Given the description of an element on the screen output the (x, y) to click on. 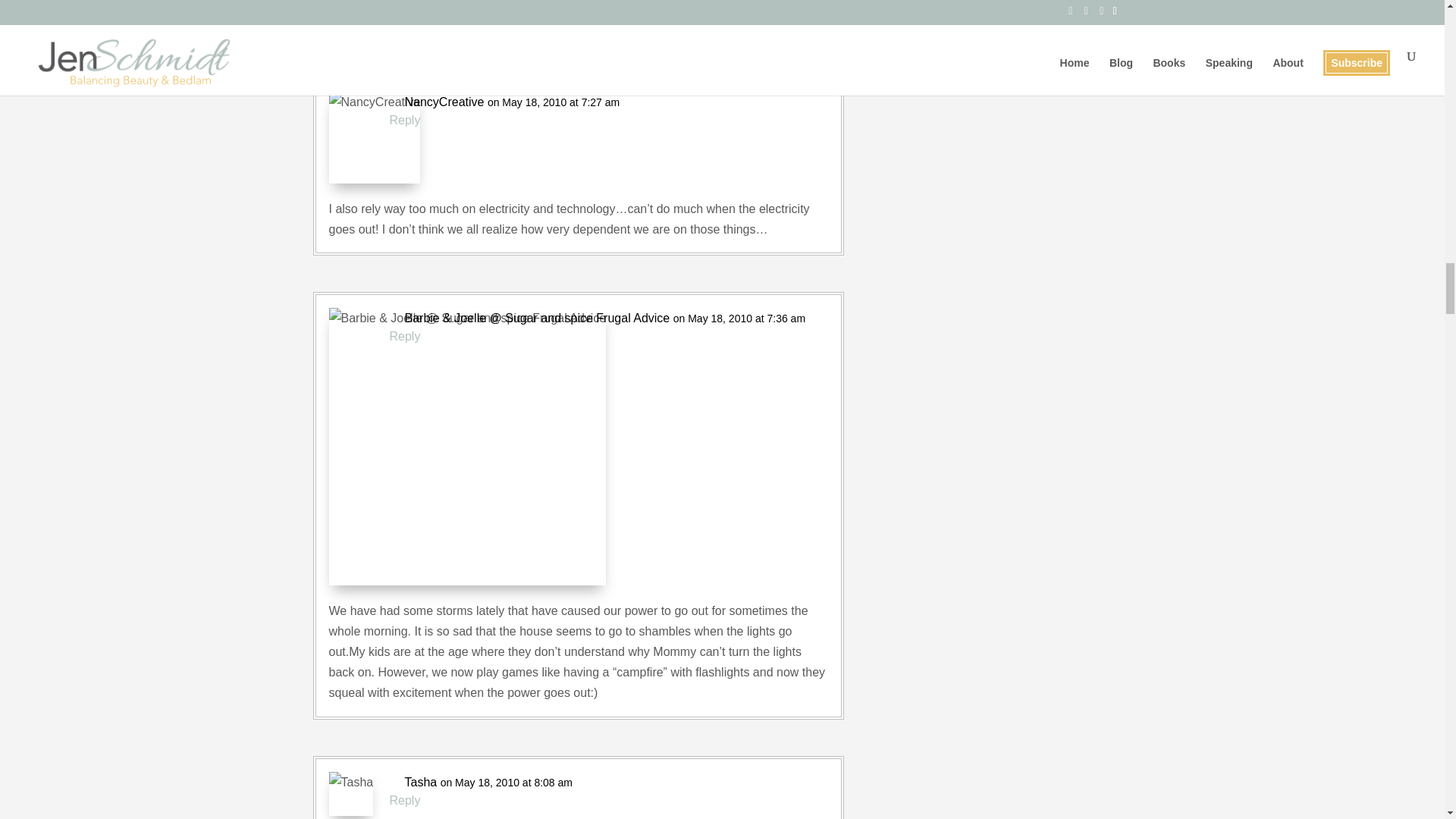
Reply (405, 800)
Reply (405, 119)
NancyCreative (444, 101)
Tasha (421, 782)
Reply (405, 335)
